Given the description of an element on the screen output the (x, y) to click on. 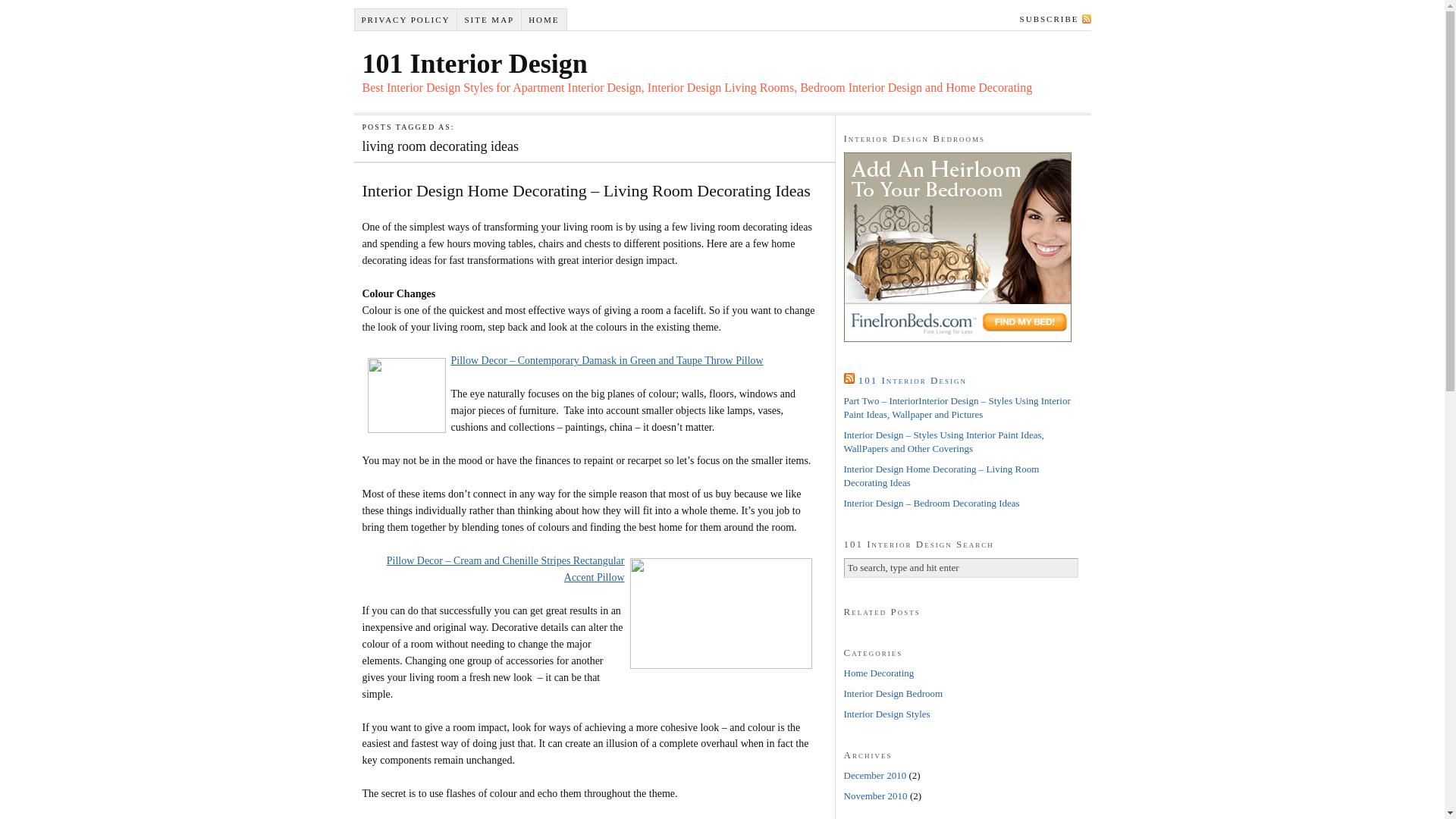
Interior Design Bedroom Element type: text (892, 693)
December 2010 Element type: text (874, 775)
SUBSCRIBE Element type: text (1052, 18)
Interior Design Styles Element type: text (886, 713)
HOME Element type: text (543, 19)
PRIVACY POLICY Element type: text (406, 19)
101 Interior Design Element type: text (912, 379)
101 Interior Design Element type: text (474, 63)
Home Decorating Element type: text (878, 672)
SITE MAP Element type: text (489, 19)
November 2010 Element type: text (874, 795)
